Given the description of an element on the screen output the (x, y) to click on. 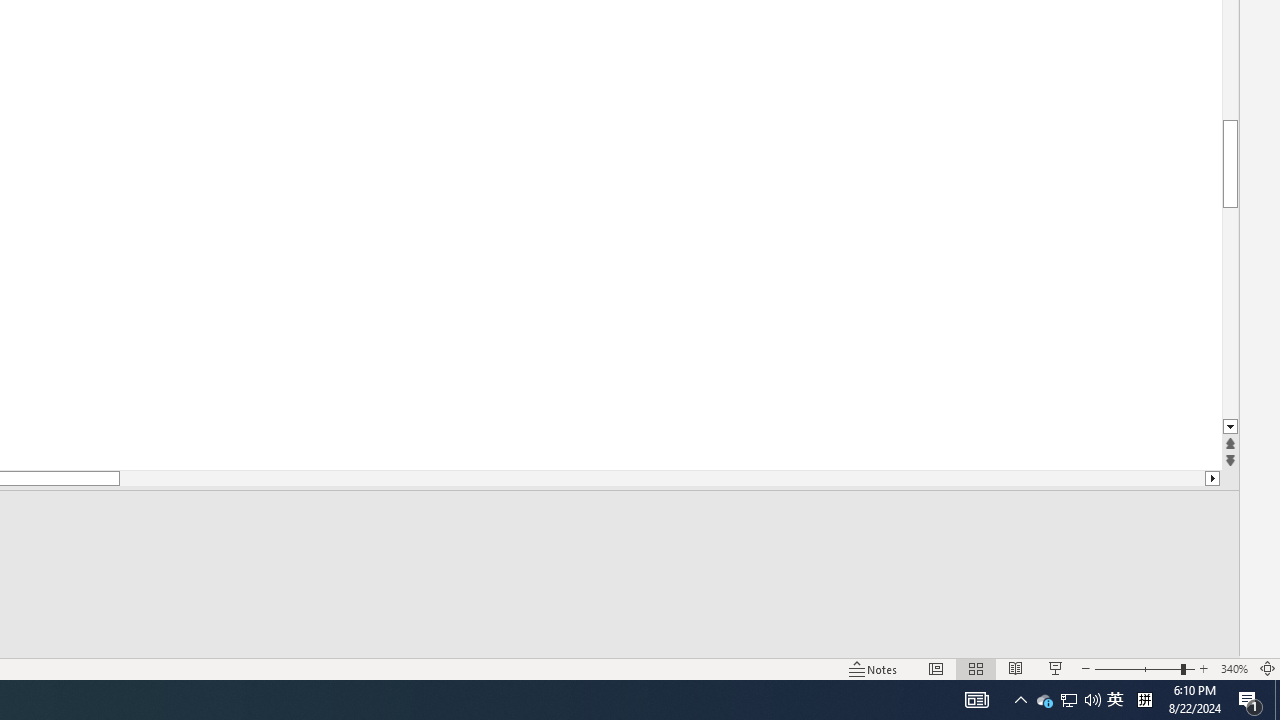
Zoom 340% (1234, 668)
